Given the description of an element on the screen output the (x, y) to click on. 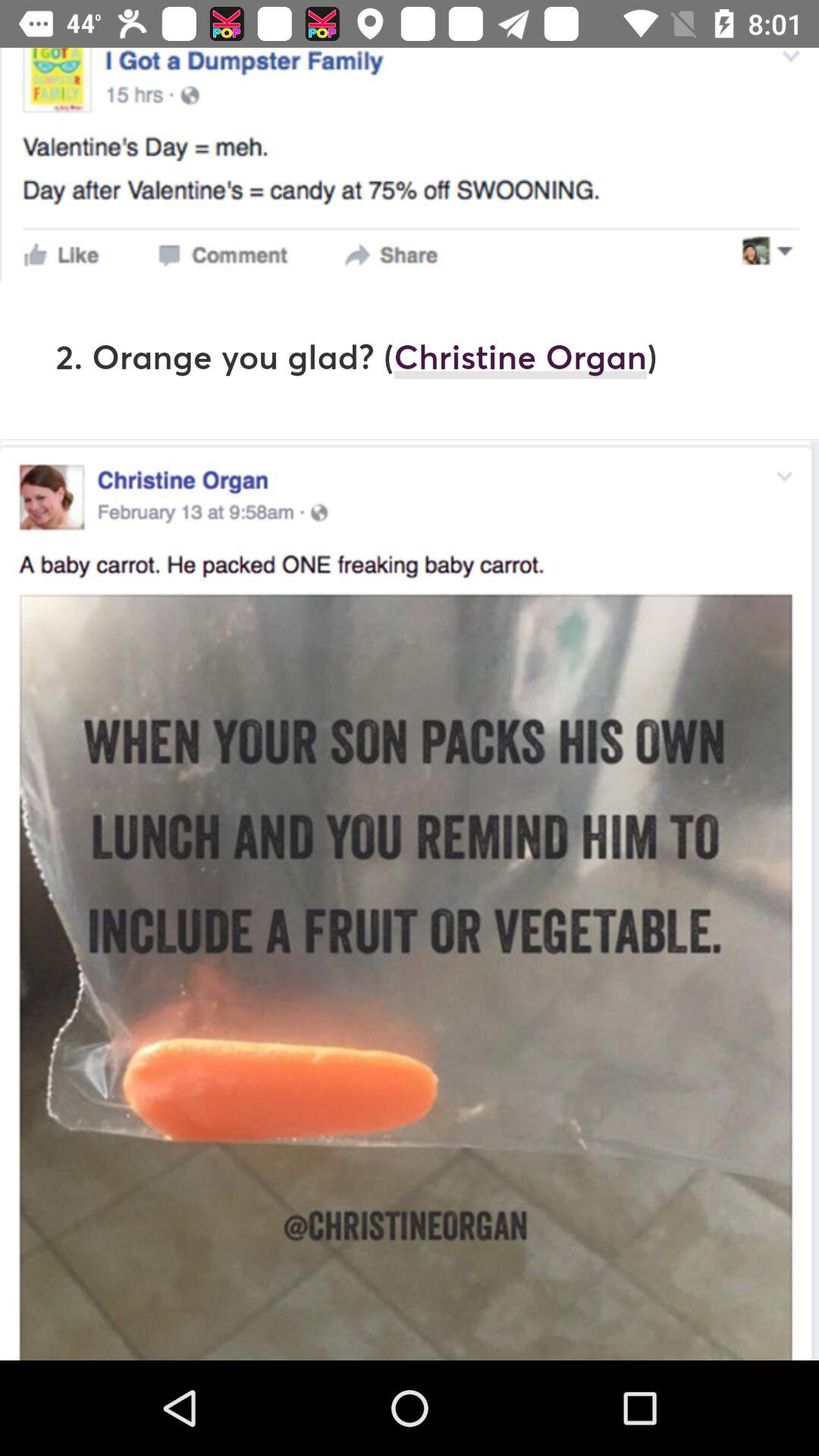
launch item at the center (409, 703)
